Given the description of an element on the screen output the (x, y) to click on. 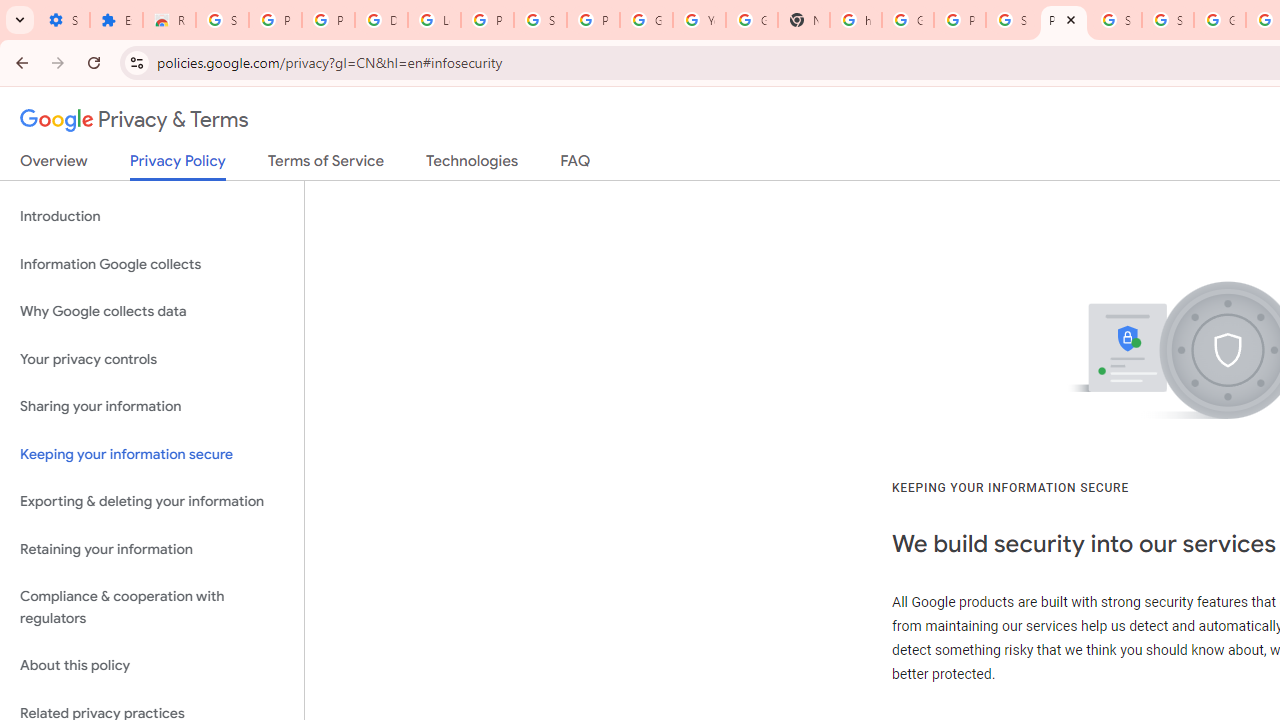
Learn how to find your photos - Google Photos Help (434, 20)
Delete photos & videos - Computer - Google Photos Help (381, 20)
Reviews: Helix Fruit Jump Arcade Game (169, 20)
Sign in - Google Accounts (540, 20)
